Given the description of an element on the screen output the (x, y) to click on. 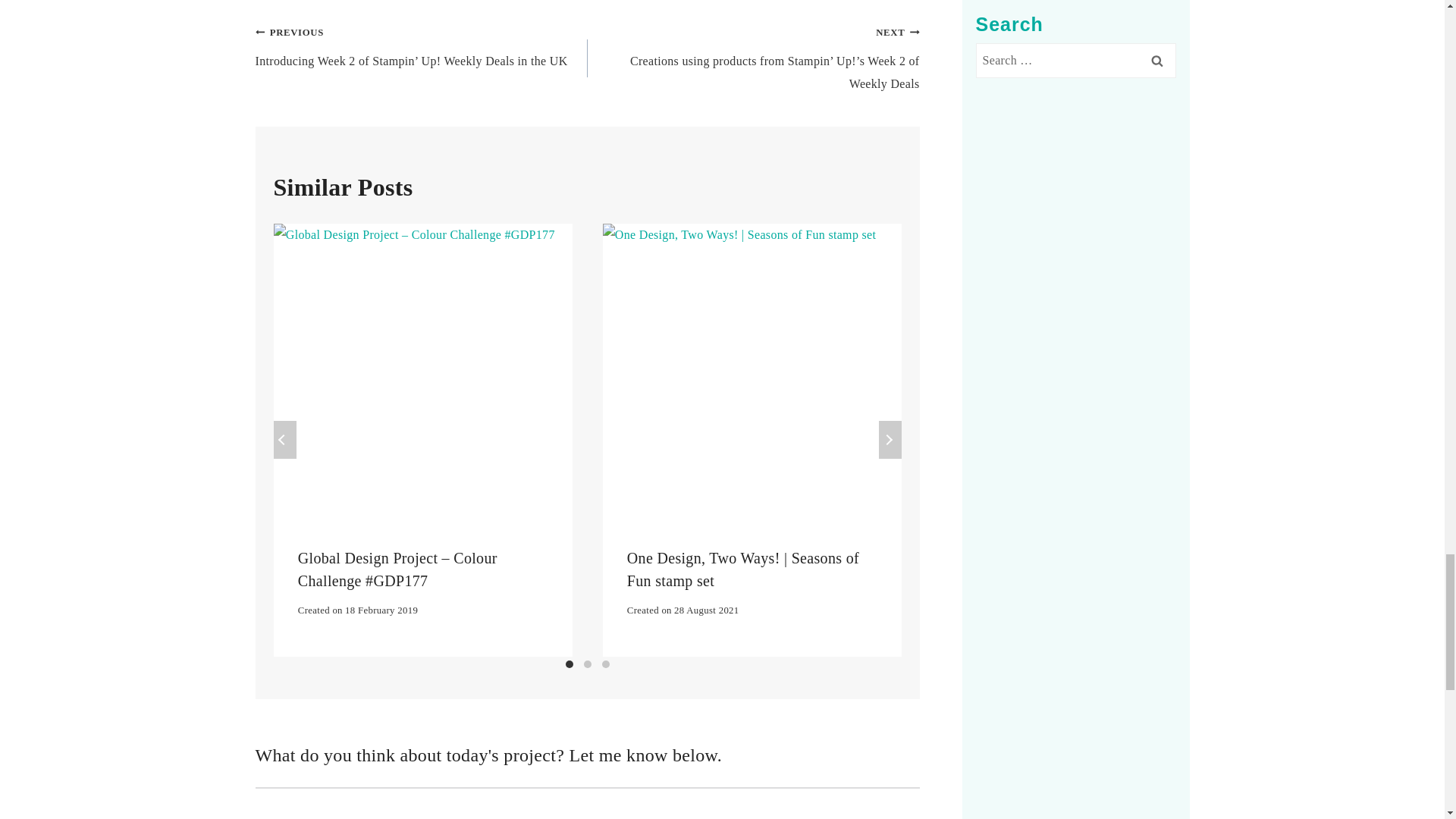
Comment Form (586, 803)
